Given the description of an element on the screen output the (x, y) to click on. 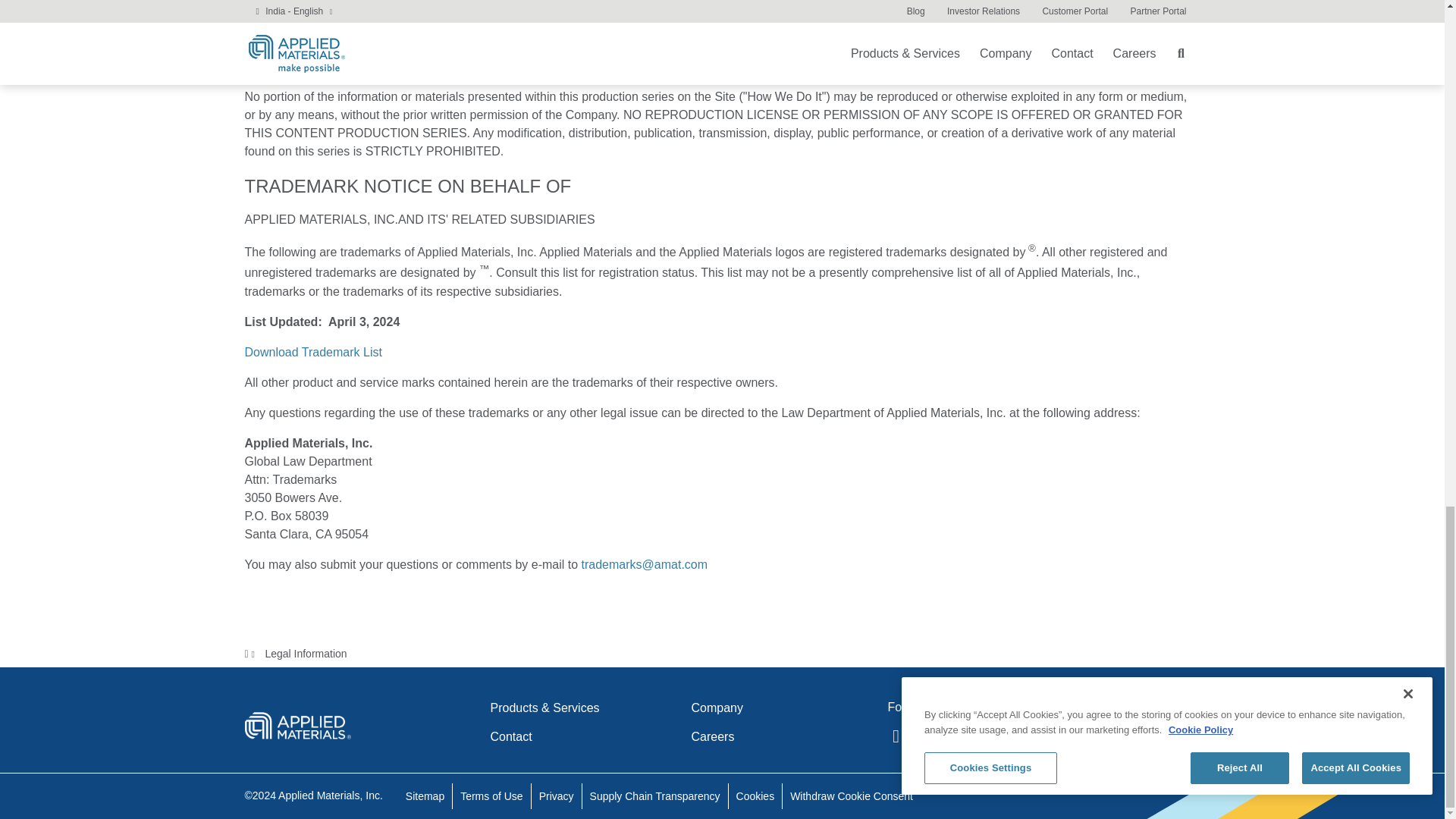
Download Trademark List (312, 351)
